Given the description of an element on the screen output the (x, y) to click on. 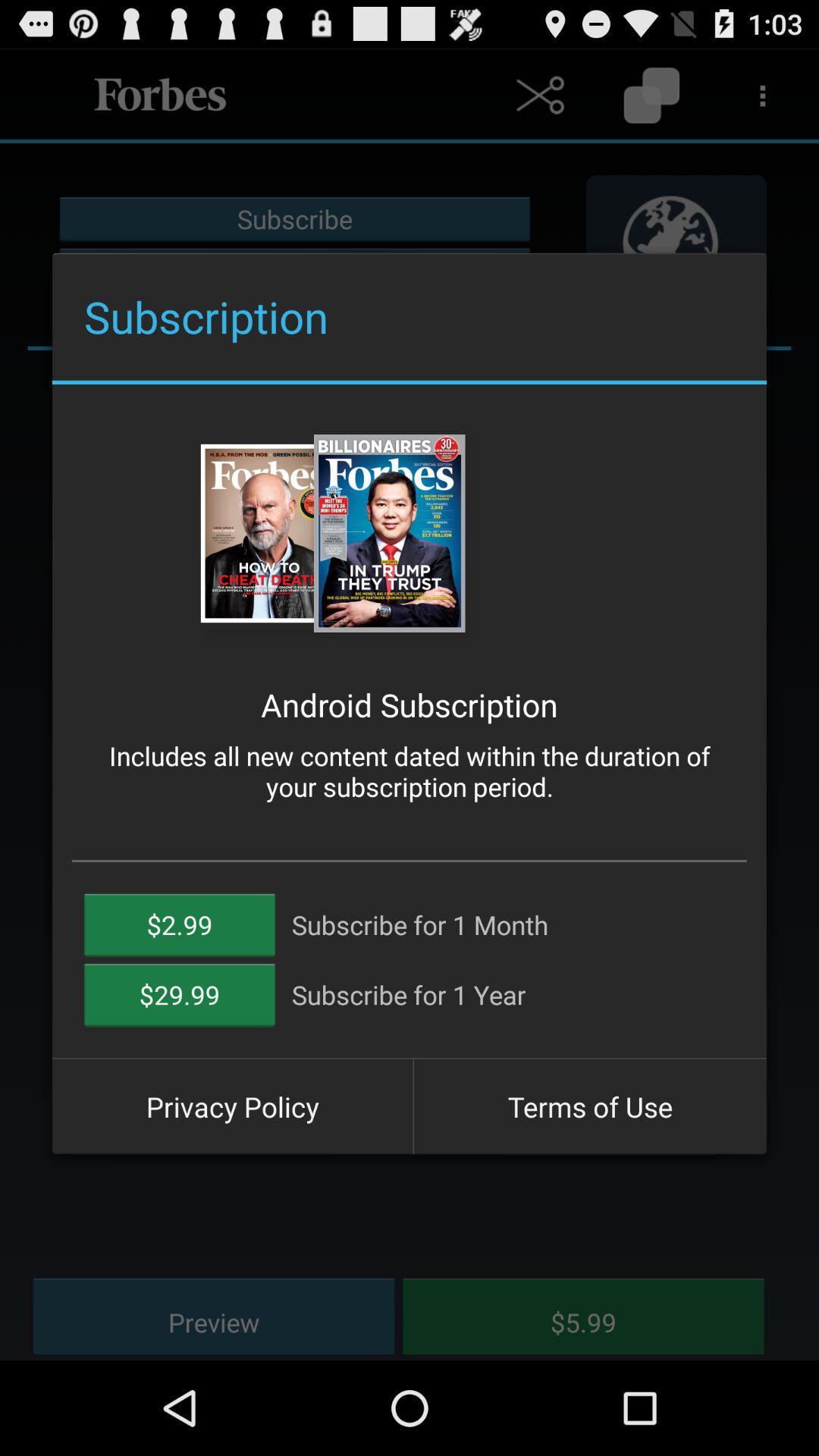
swipe to the terms of use (590, 1106)
